Given the description of an element on the screen output the (x, y) to click on. 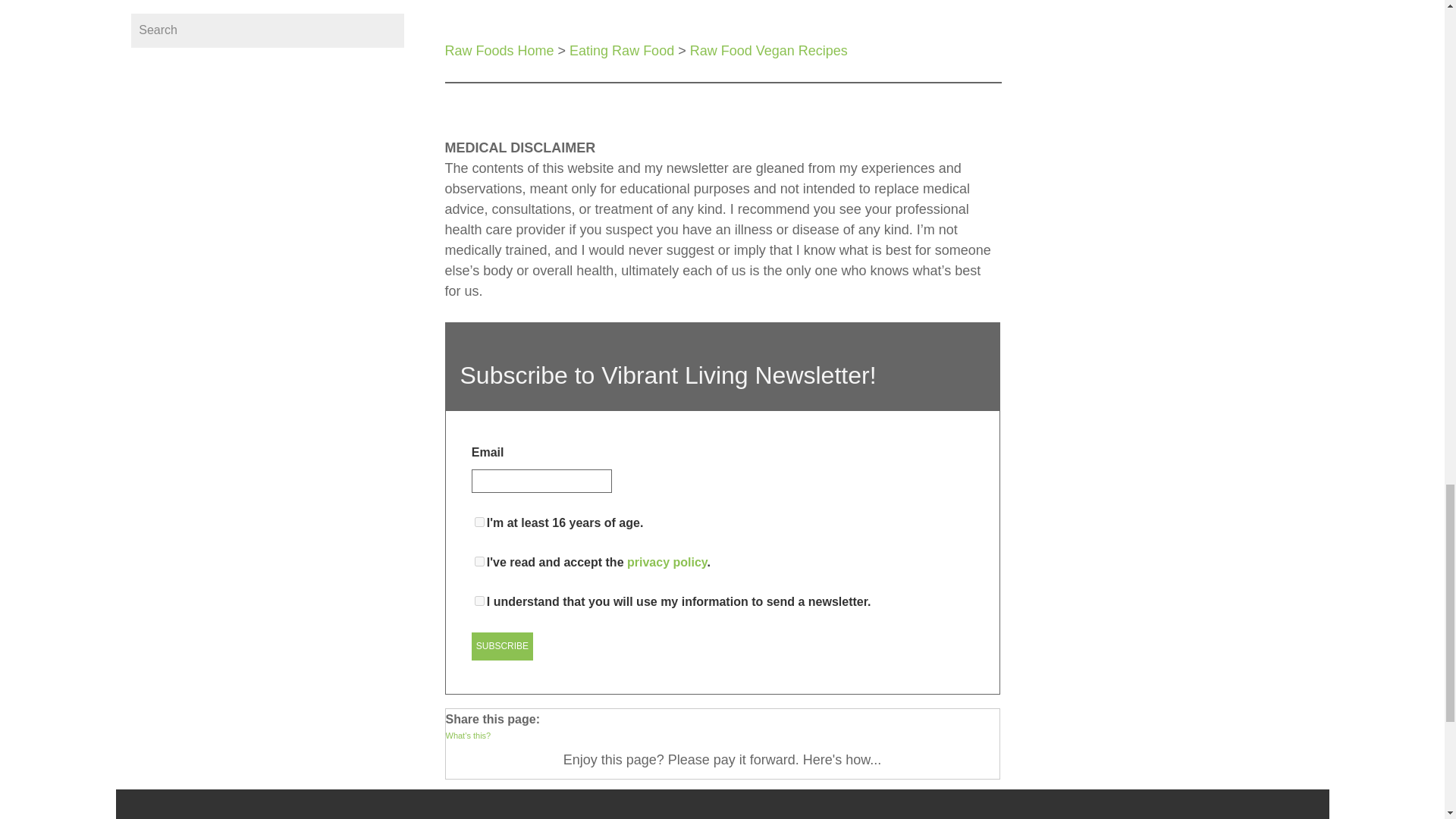
privacy policy (667, 562)
Raw Foods Home (498, 50)
SUBSCRIBE (501, 646)
on (479, 561)
Raw Food Vegan Recipes (768, 50)
on (479, 601)
Eating Raw Food (621, 50)
on (479, 521)
